Given the description of an element on the screen output the (x, y) to click on. 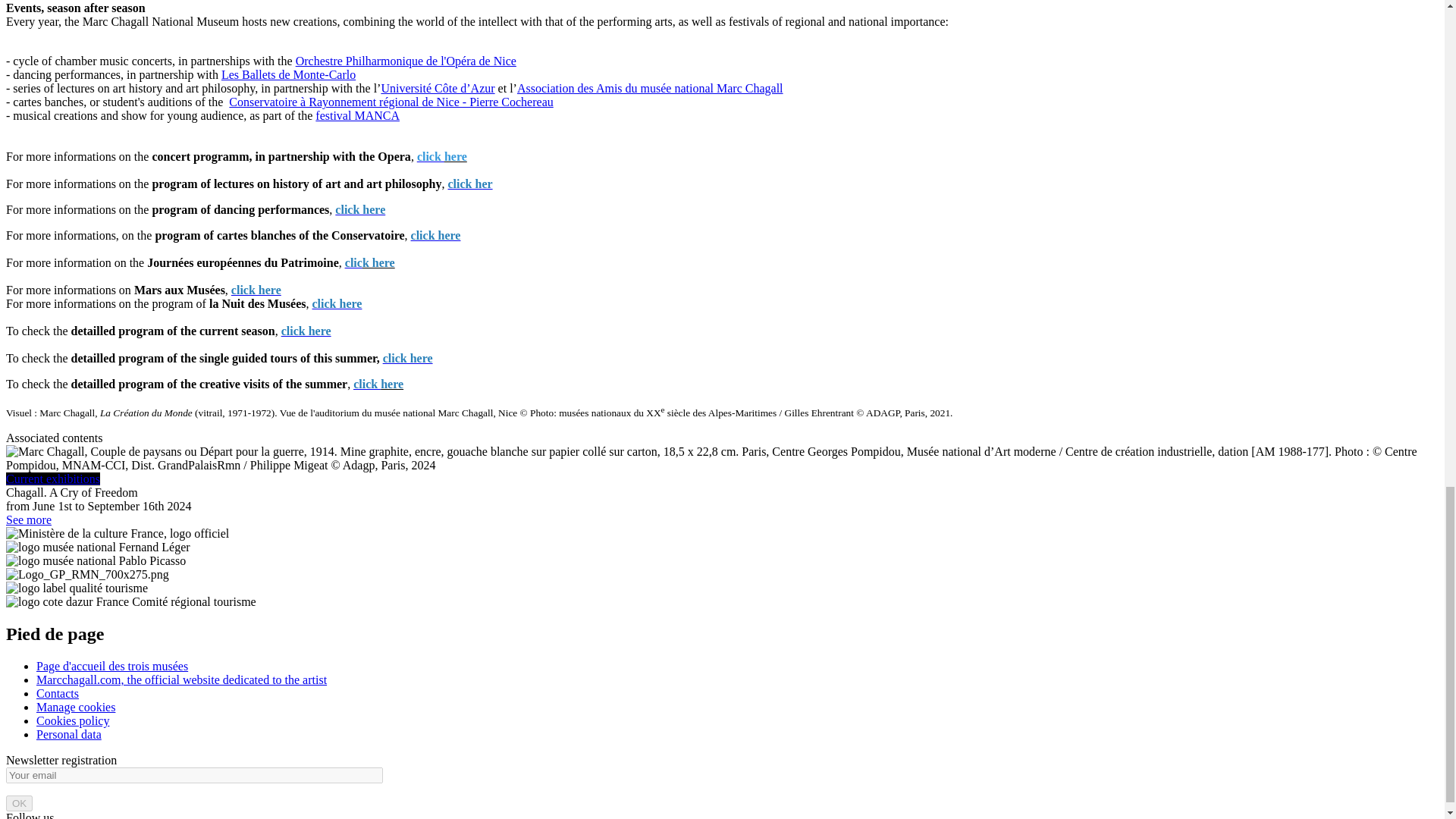
OK (18, 803)
